Given the description of an element on the screen output the (x, y) to click on. 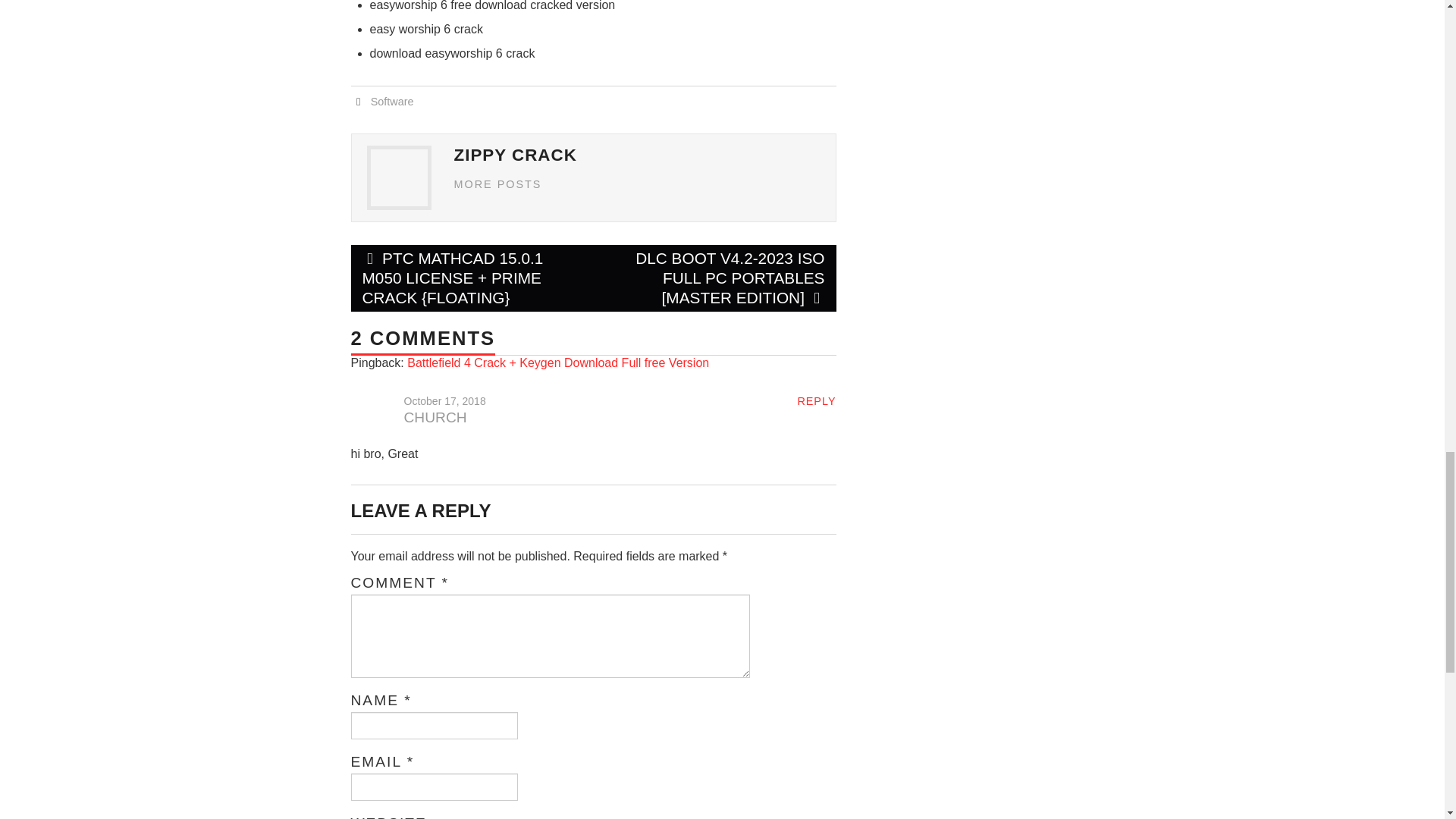
MORE POSTS (496, 184)
October 17, 2018 (443, 400)
REPLY (815, 400)
Software (392, 101)
